Given the description of an element on the screen output the (x, y) to click on. 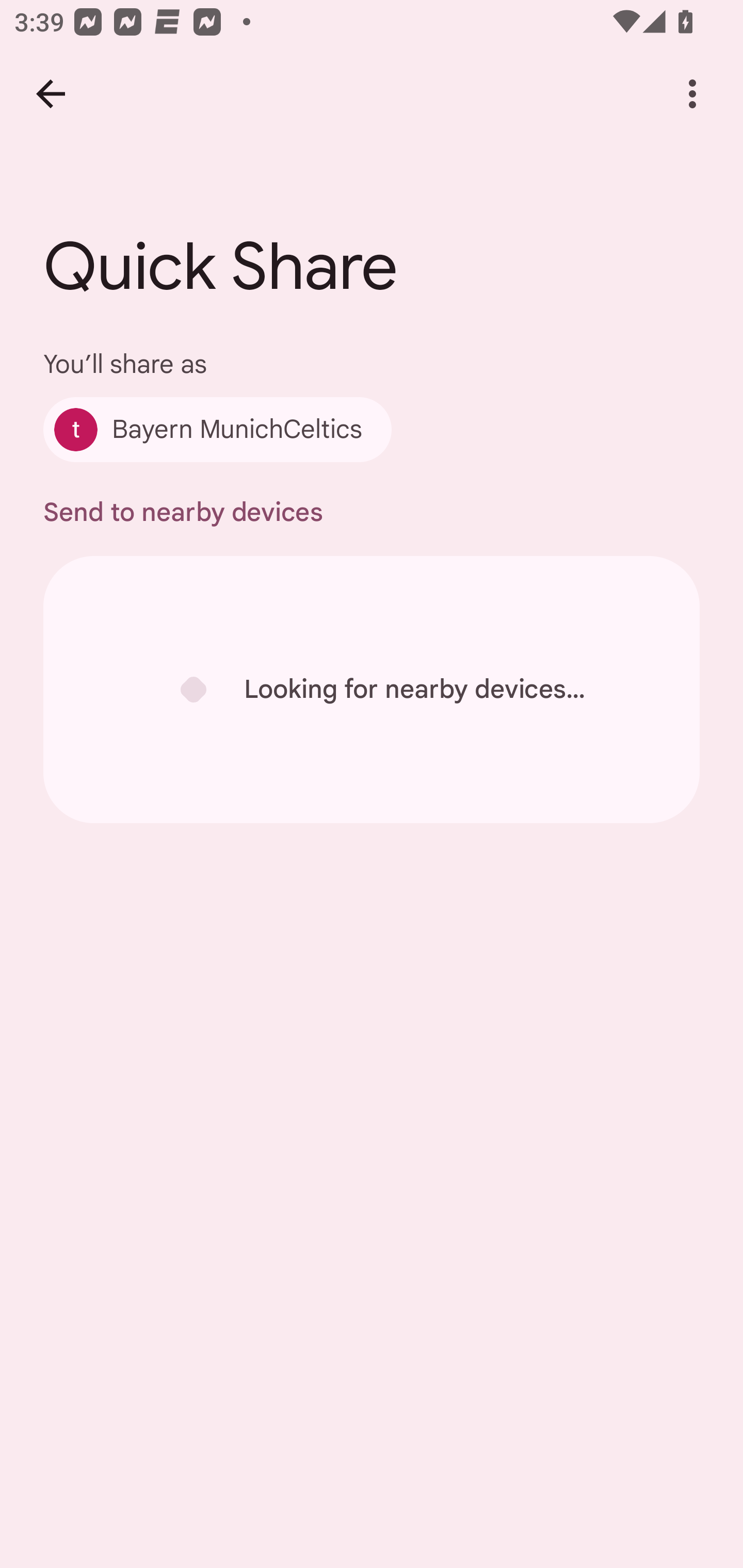
Back (50, 93)
More (692, 93)
Bayern MunichCeltics (217, 429)
